Given the description of an element on the screen output the (x, y) to click on. 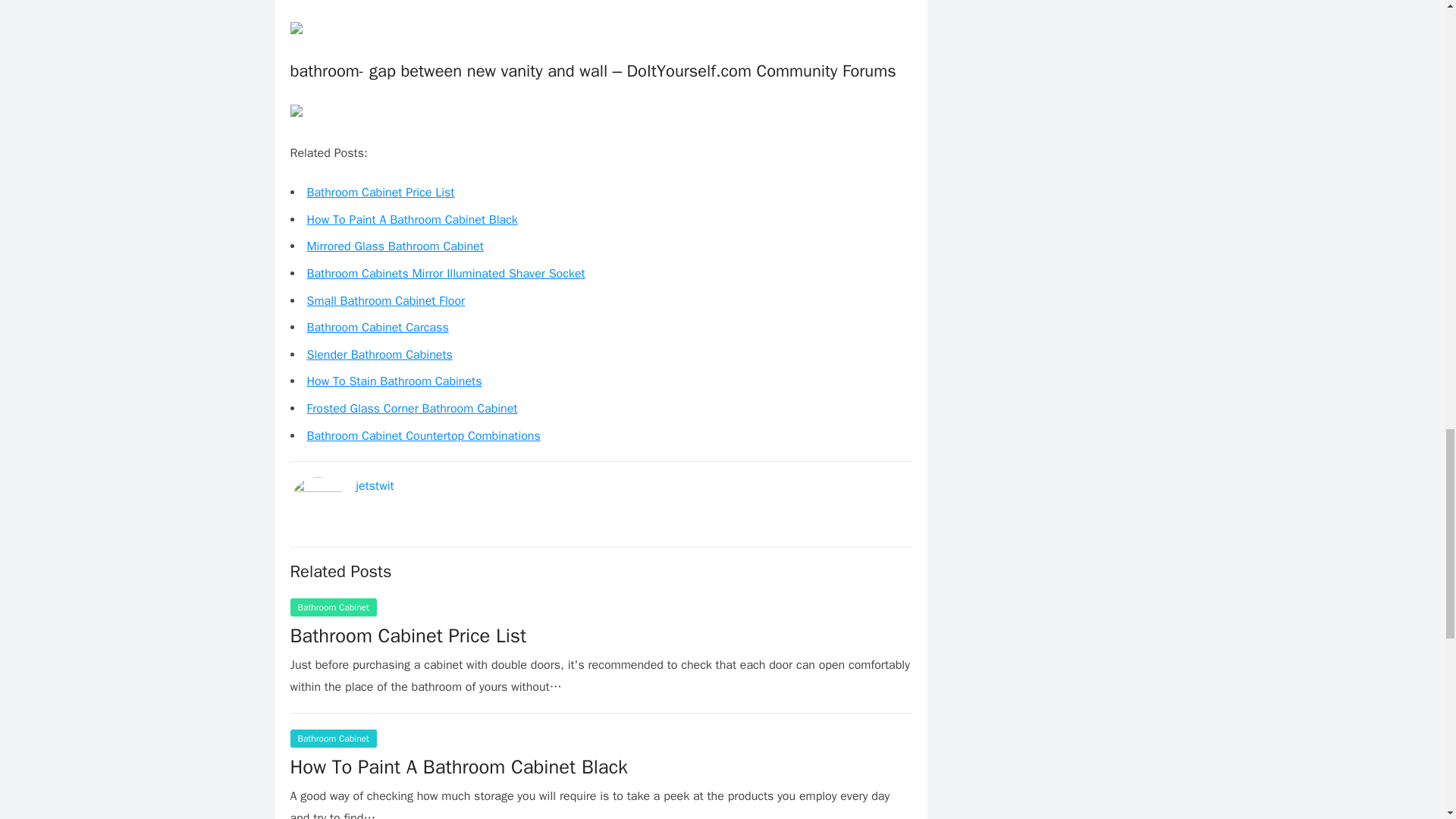
Bathroom Cabinets Mirror Illuminated Shaver Socket (445, 273)
How To Paint A Bathroom Cabinet Black (458, 766)
How To Stain Bathroom Cabinets (393, 381)
How To Paint A Bathroom Cabinet Black (410, 219)
Slender Bathroom Cabinets (378, 354)
Bathroom Cabinet Price List (407, 635)
Frosted Glass Corner Bathroom Cabinet (410, 408)
Small Bathroom Cabinet Floor (384, 300)
Bathroom Cabinet (332, 607)
jetstwit (375, 485)
